Given the description of an element on the screen output the (x, y) to click on. 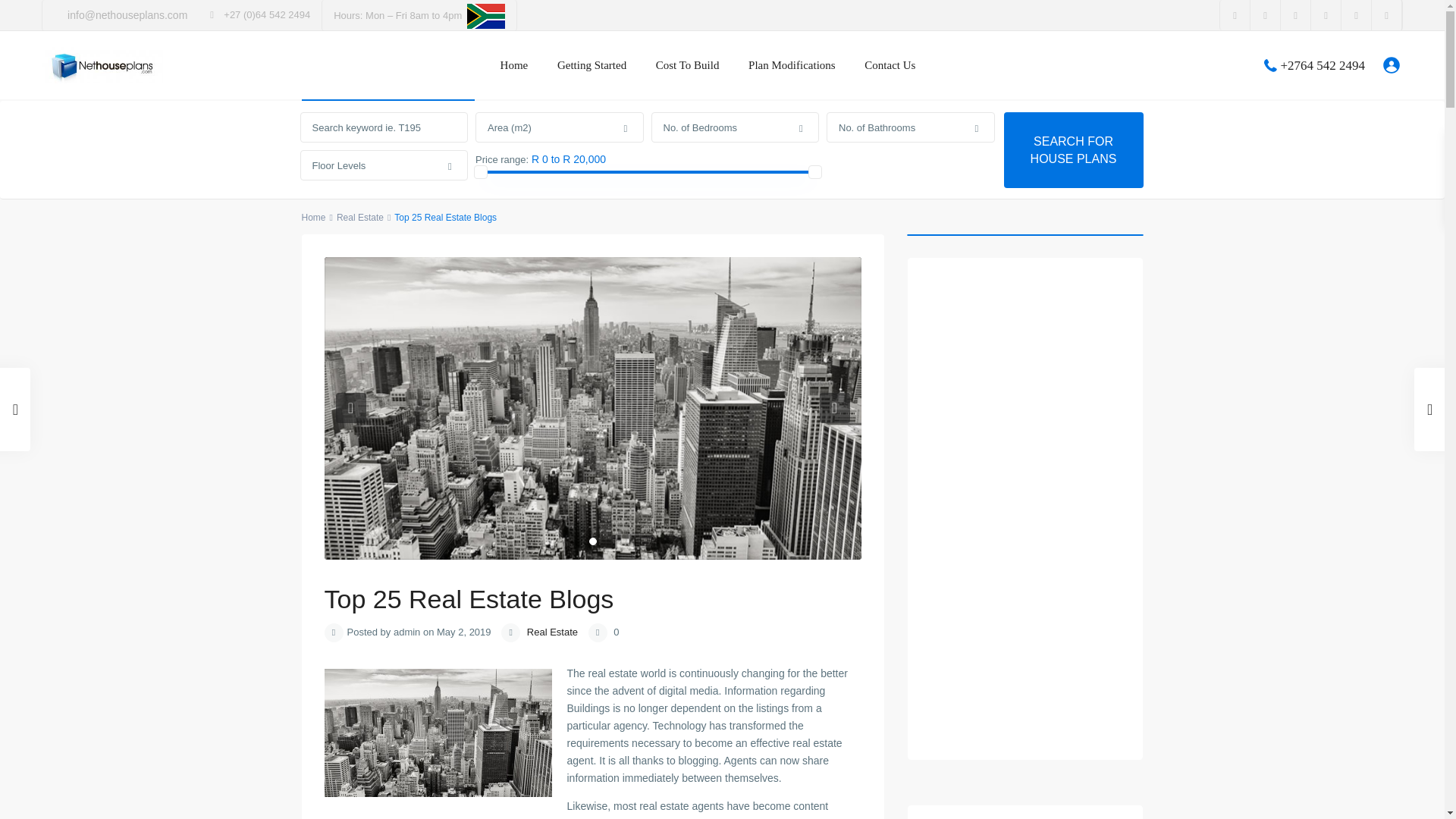
Home (514, 65)
Getting Started (591, 65)
SEARCH FOR HOUSE PLANS (1073, 150)
Advertisement (1025, 508)
